Given the description of an element on the screen output the (x, y) to click on. 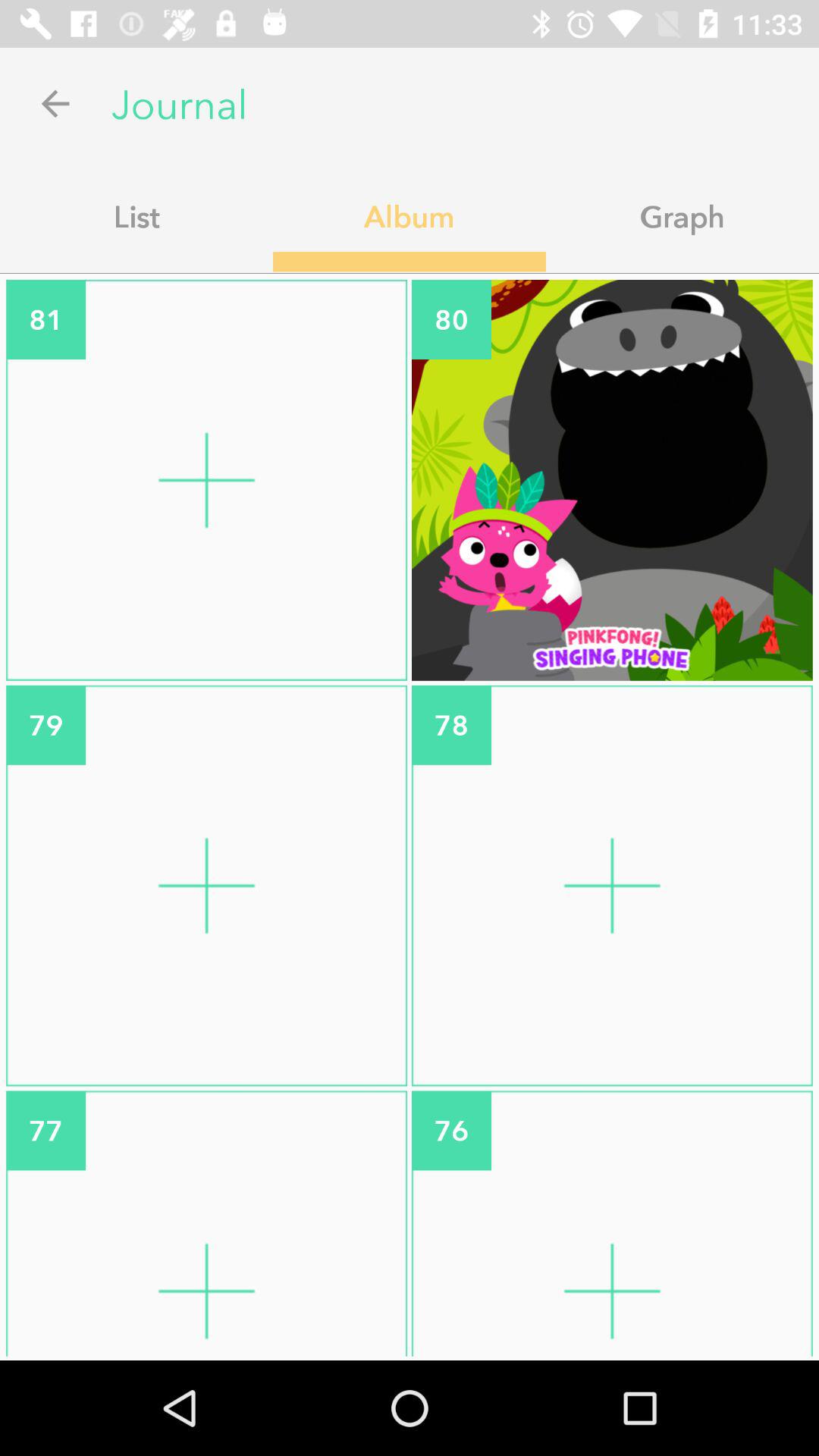
tap icon above the list item (55, 103)
